Given the description of an element on the screen output the (x, y) to click on. 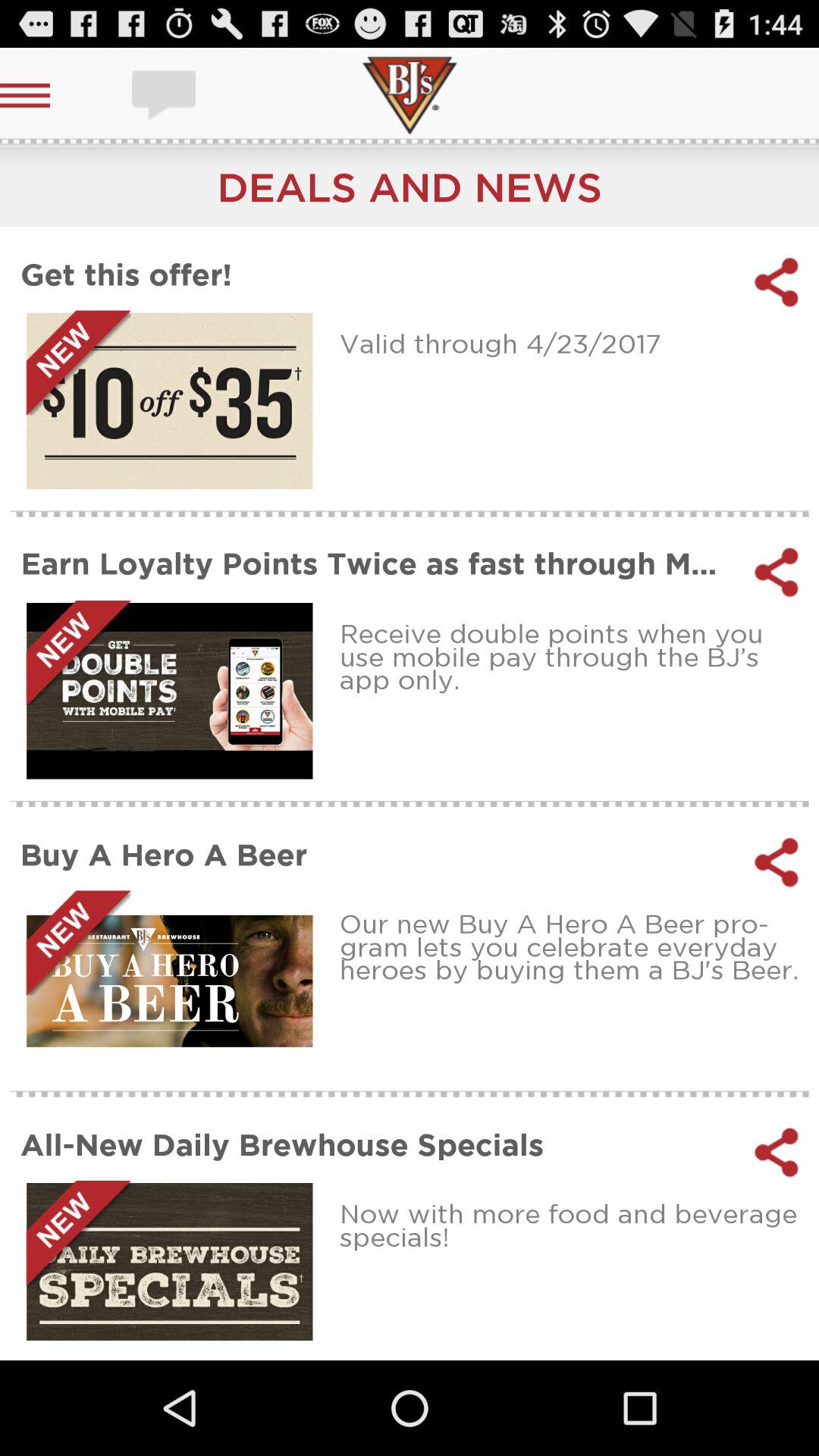
turn on the our new buy item (573, 946)
